Given the description of an element on the screen output the (x, y) to click on. 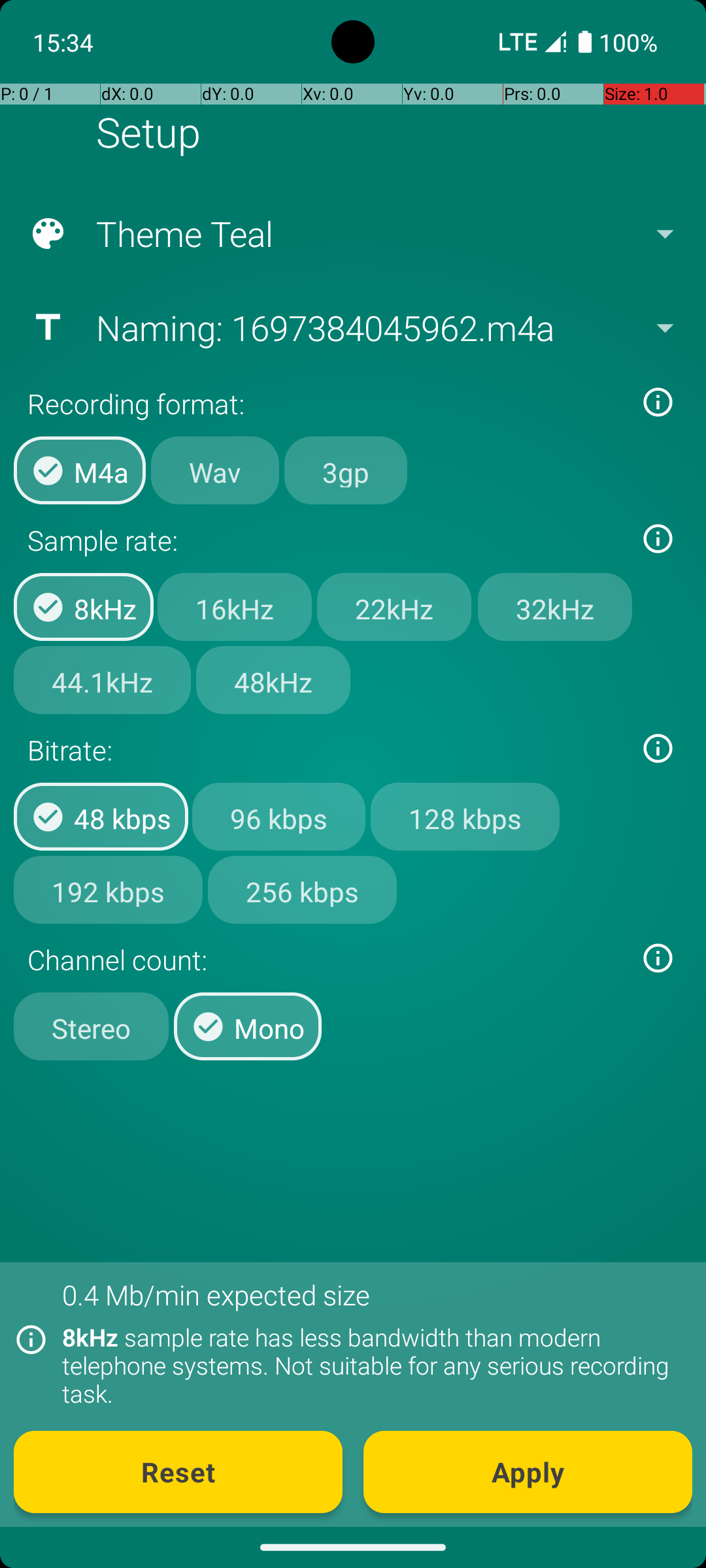
0.4 Mb/min expected size Element type: android.widget.TextView (215, 1294)
8kHz sample rate has less bandwidth than modern telephone systems. Not suitable for any serious recording task. Element type: android.widget.TextView (370, 1364)
Naming: 1697384045962.m4a Element type: android.widget.TextView (352, 327)
